Given the description of an element on the screen output the (x, y) to click on. 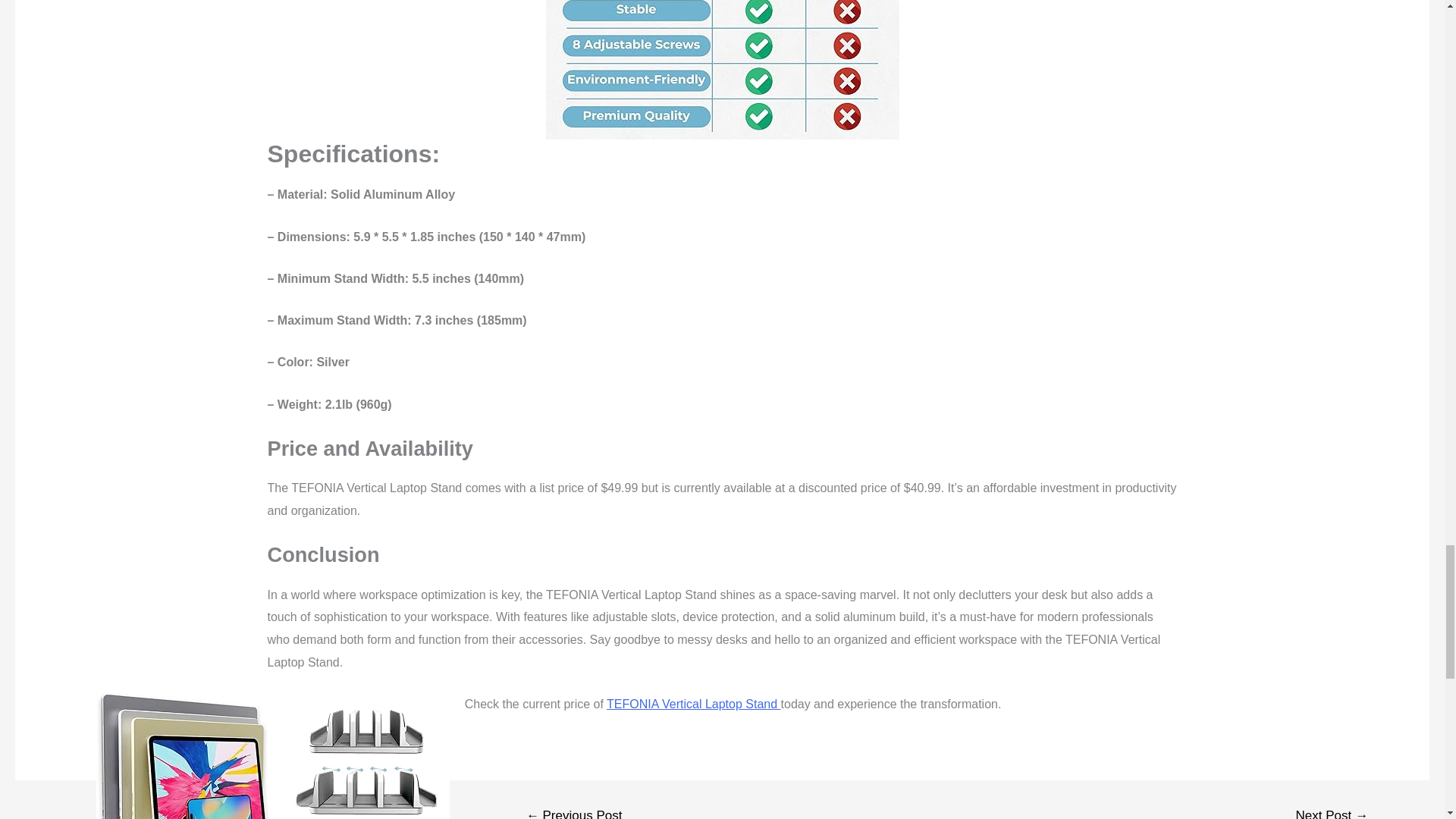
TEFONIA Vertical Laptop Stand (693, 703)
